Given the description of an element on the screen output the (x, y) to click on. 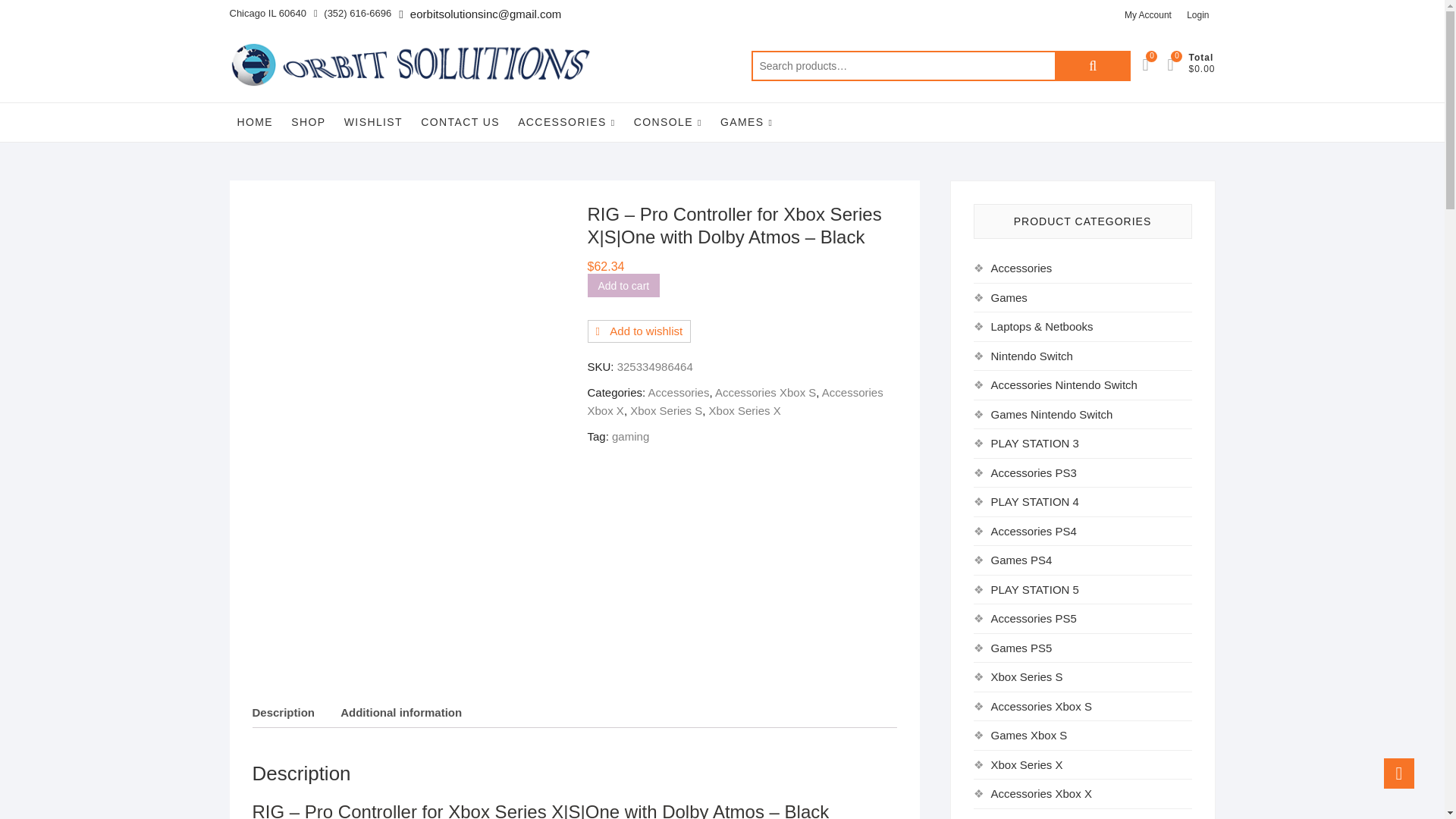
Chicago IL 60640 (266, 13)
GAMES (746, 122)
CONSOLE (668, 122)
ACCESSORIES (567, 122)
Search (1092, 65)
CONTACT US (459, 121)
HOME (254, 121)
Call Us (352, 13)
My Account (1147, 15)
WISHLIST (373, 121)
Login (1197, 15)
SHOP (308, 121)
Our Address (266, 13)
